Given the description of an element on the screen output the (x, y) to click on. 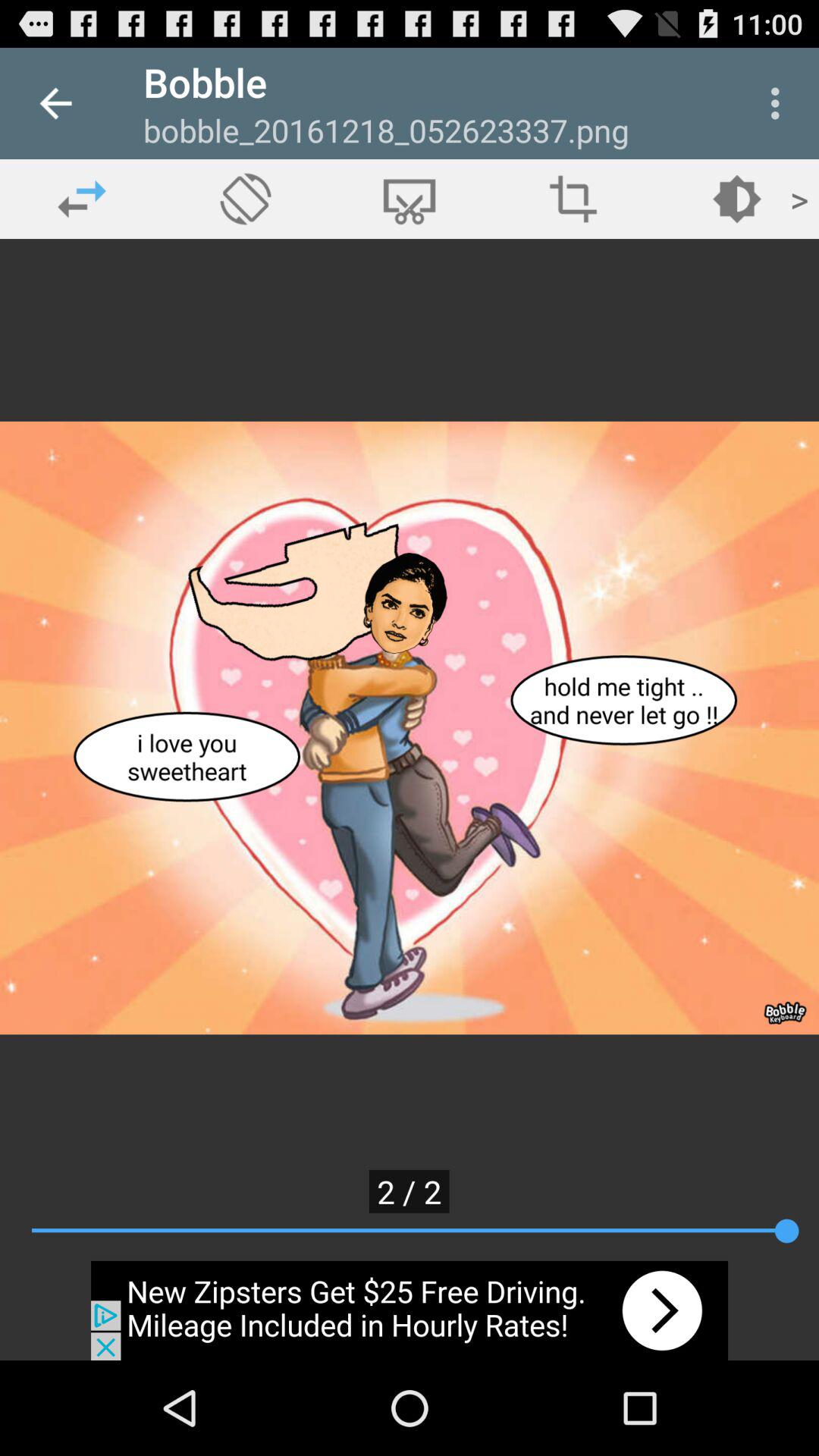
go to previous (81, 198)
